Given the description of an element on the screen output the (x, y) to click on. 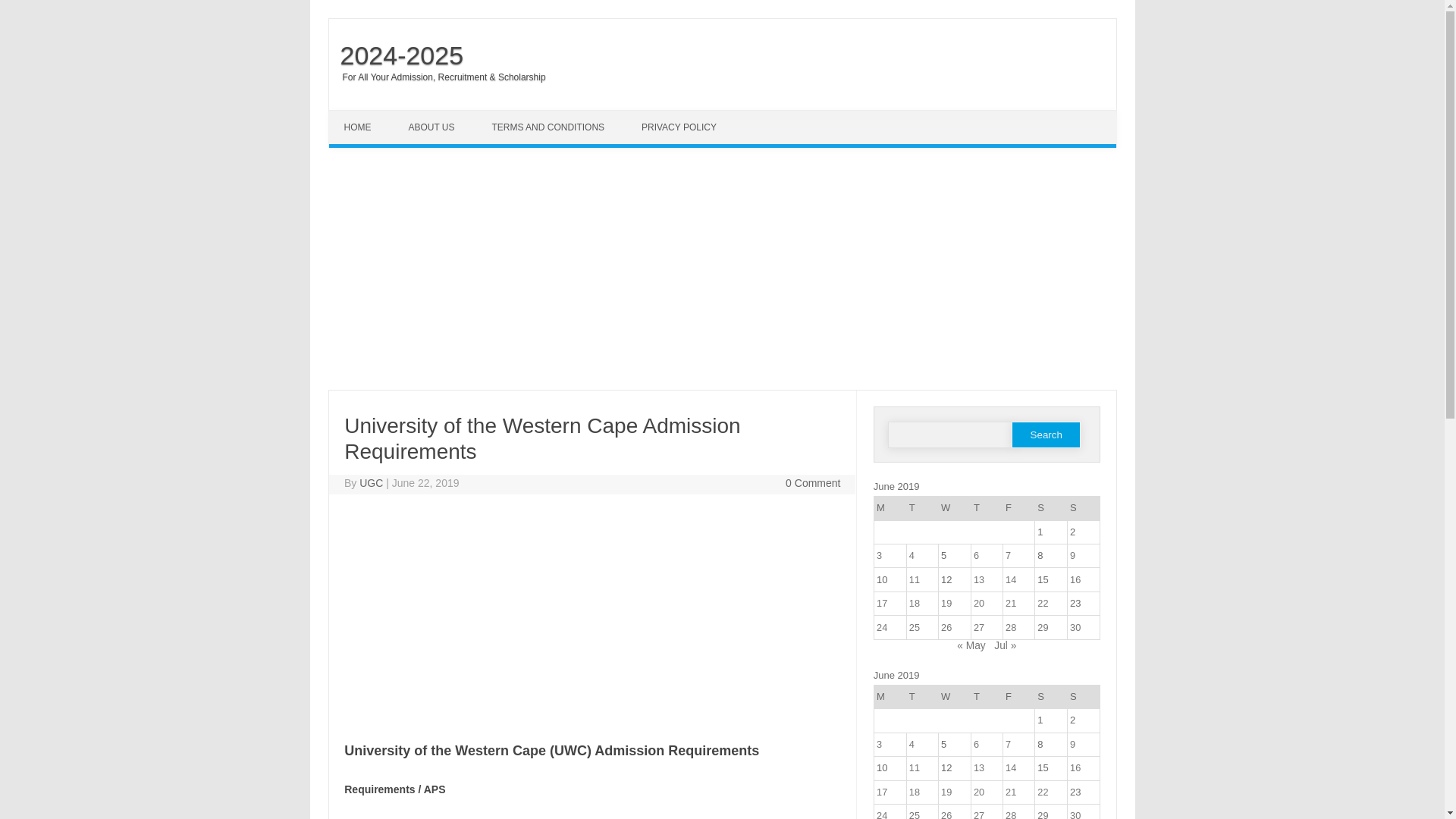
14 (1011, 579)
30 (1075, 627)
11 (914, 579)
28 (1011, 627)
Wednesday (954, 508)
Search (1045, 434)
24 (881, 627)
Monday (889, 508)
25 (914, 627)
17 (881, 603)
